Given the description of an element on the screen output the (x, y) to click on. 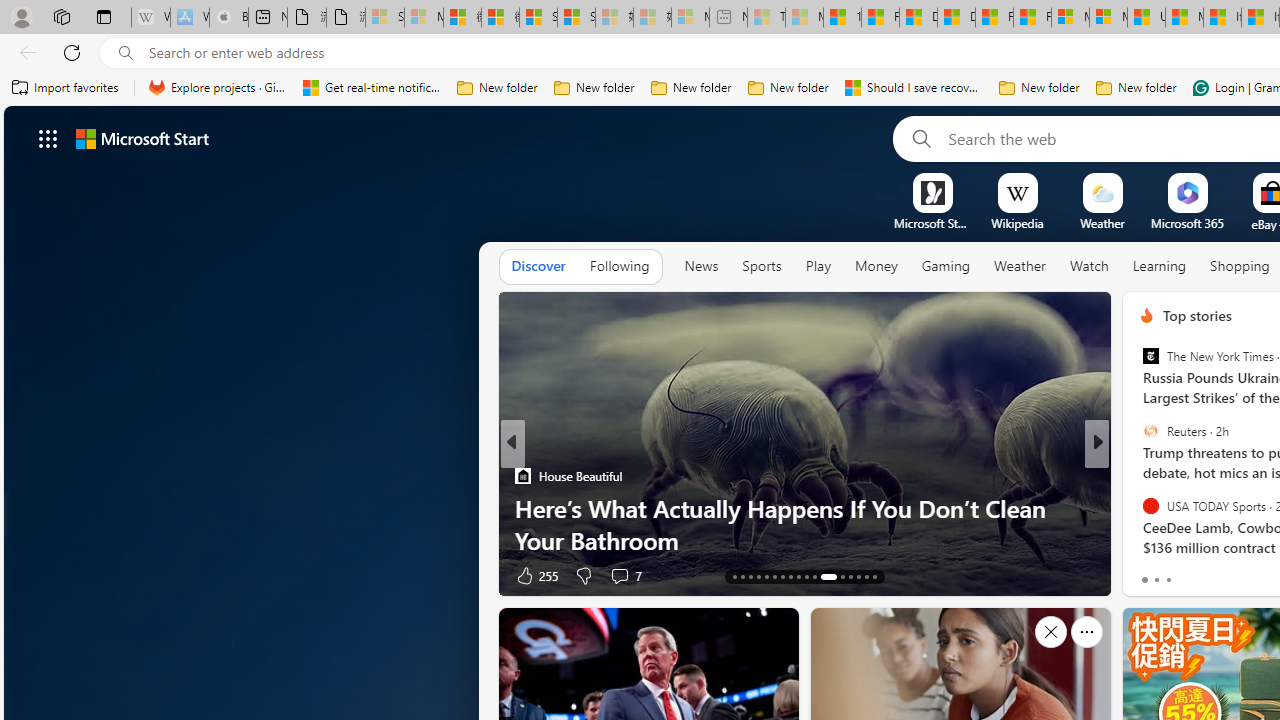
Microsoft start (142, 138)
AutomationID: tab-33 (874, 576)
Lifestyle Trends (1138, 507)
3 Like (1145, 574)
255 Like (535, 574)
115 Like (1151, 574)
AutomationID: tab-21 (797, 576)
Drinking tea every day is proven to delay biological aging (956, 17)
